Given the description of an element on the screen output the (x, y) to click on. 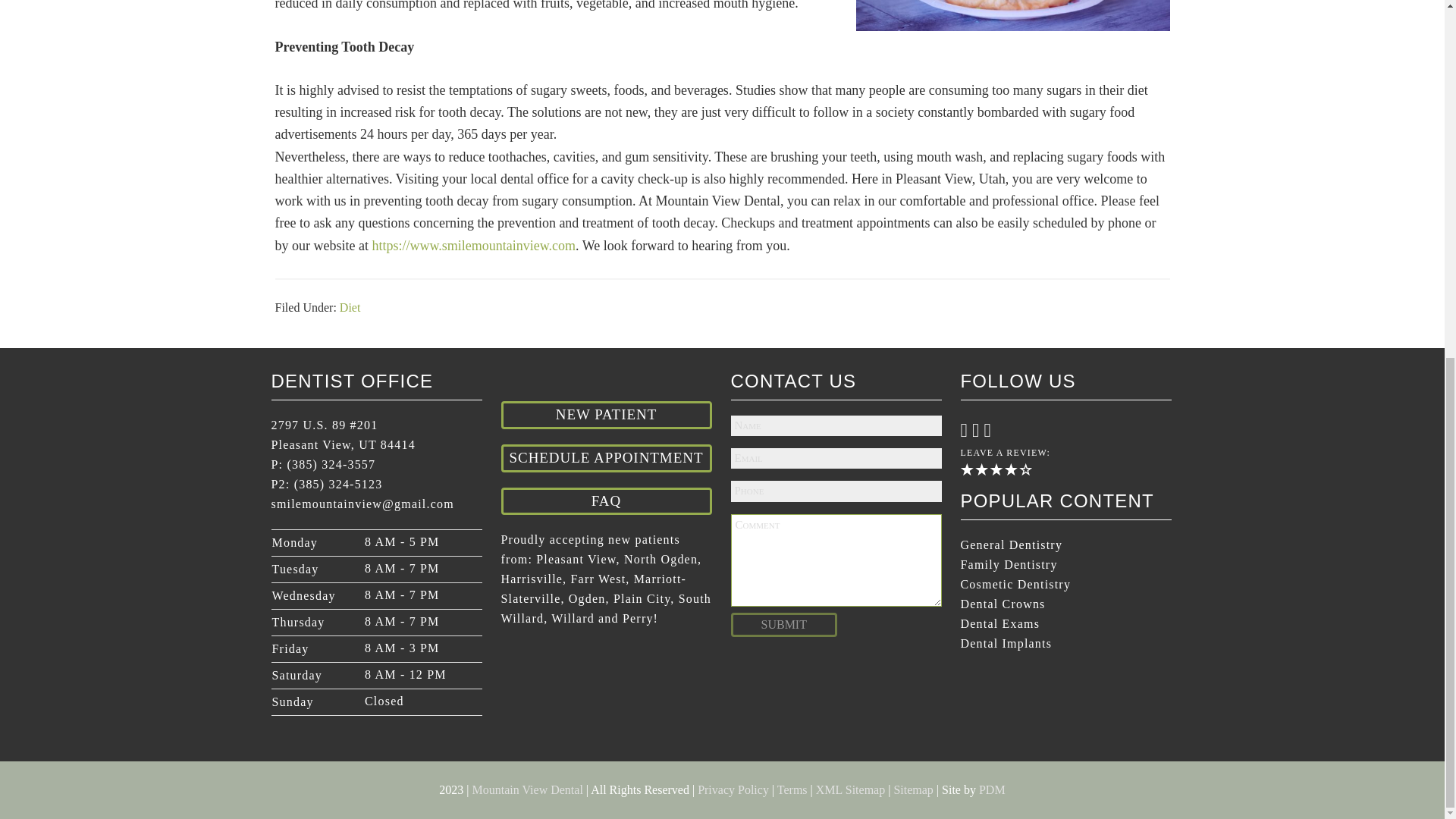
Diet (350, 307)
Review Stars (994, 469)
Submit (783, 623)
Why Sugar Is So Damaging To Your Teeth (1012, 15)
Ogden SEO (992, 789)
